Given the description of an element on the screen output the (x, y) to click on. 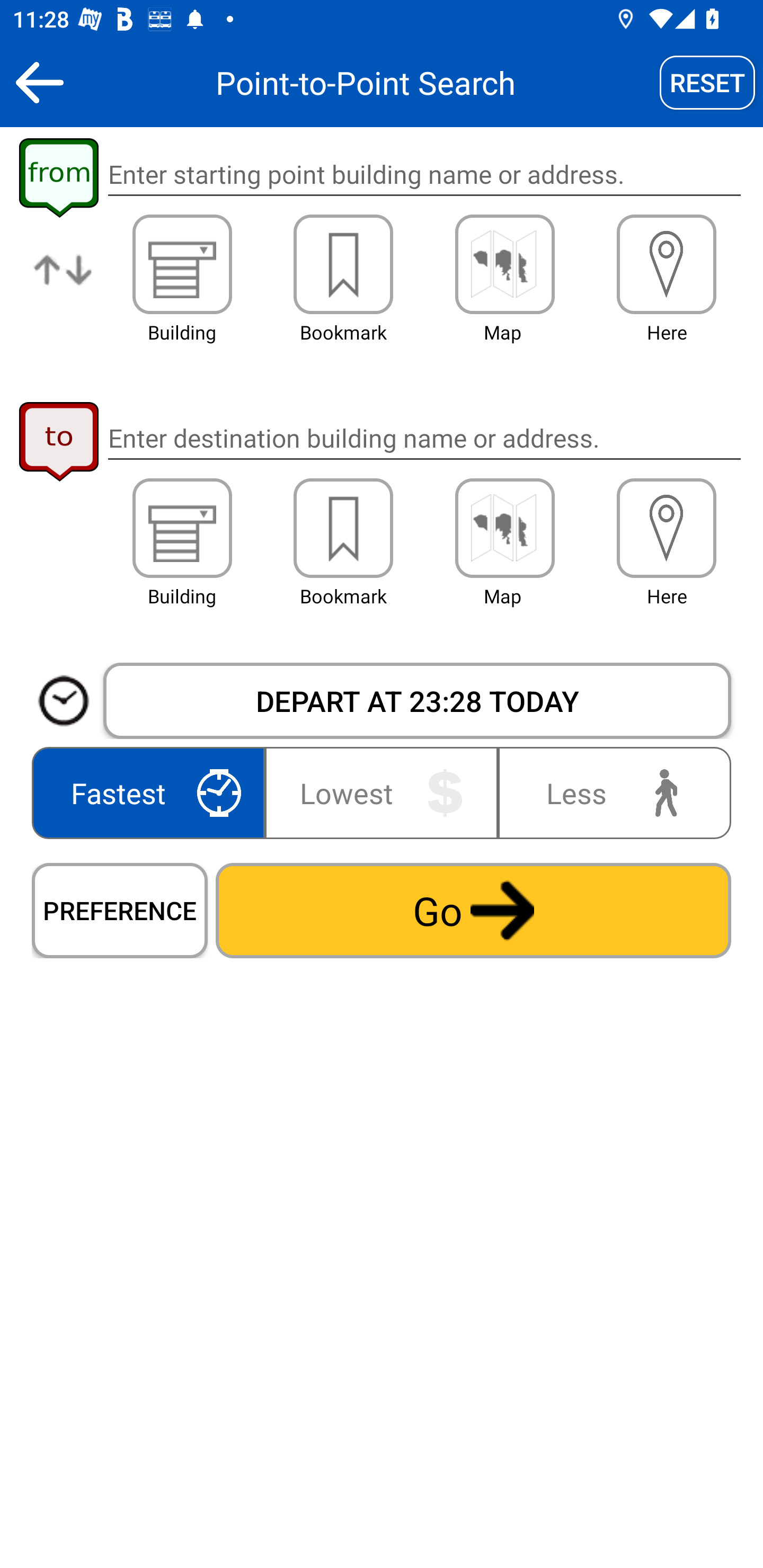
Back (39, 82)
RESET Reset (707, 81)
Enter starting point building name or address. (423, 174)
Building (181, 263)
Bookmarks (342, 263)
Select location on map (504, 263)
Here (666, 263)
Swap origin and destination (63, 284)
Enter destination building name or address. (423, 437)
Building (181, 528)
Bookmarks (342, 528)
Select location on map (504, 528)
Here (666, 528)
Lowest (381, 792)
Fastest selected (151, 792)
Less (610, 792)
PREFERENCE Preference (119, 910)
Go (472, 910)
